Given the description of an element on the screen output the (x, y) to click on. 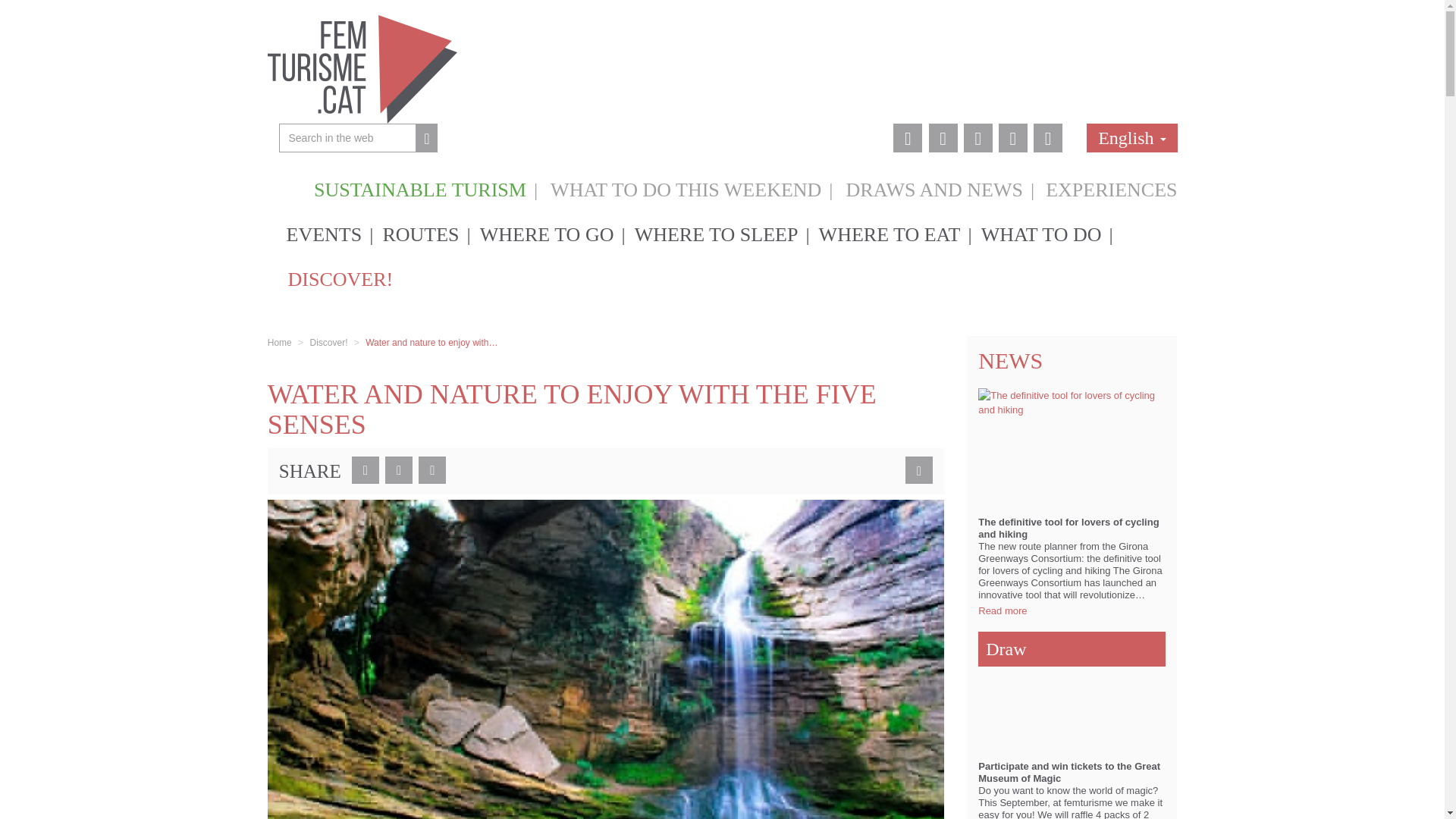
Draws and news (934, 185)
ROUTES (422, 234)
WHERE TO GO (548, 234)
www.femturisme.cat (361, 67)
English (1126, 137)
EVENTS (326, 234)
Where to sleep (718, 234)
What to do this weekend (685, 185)
Routes (422, 234)
RSS de femturisme (1047, 137)
